Given the description of an element on the screen output the (x, y) to click on. 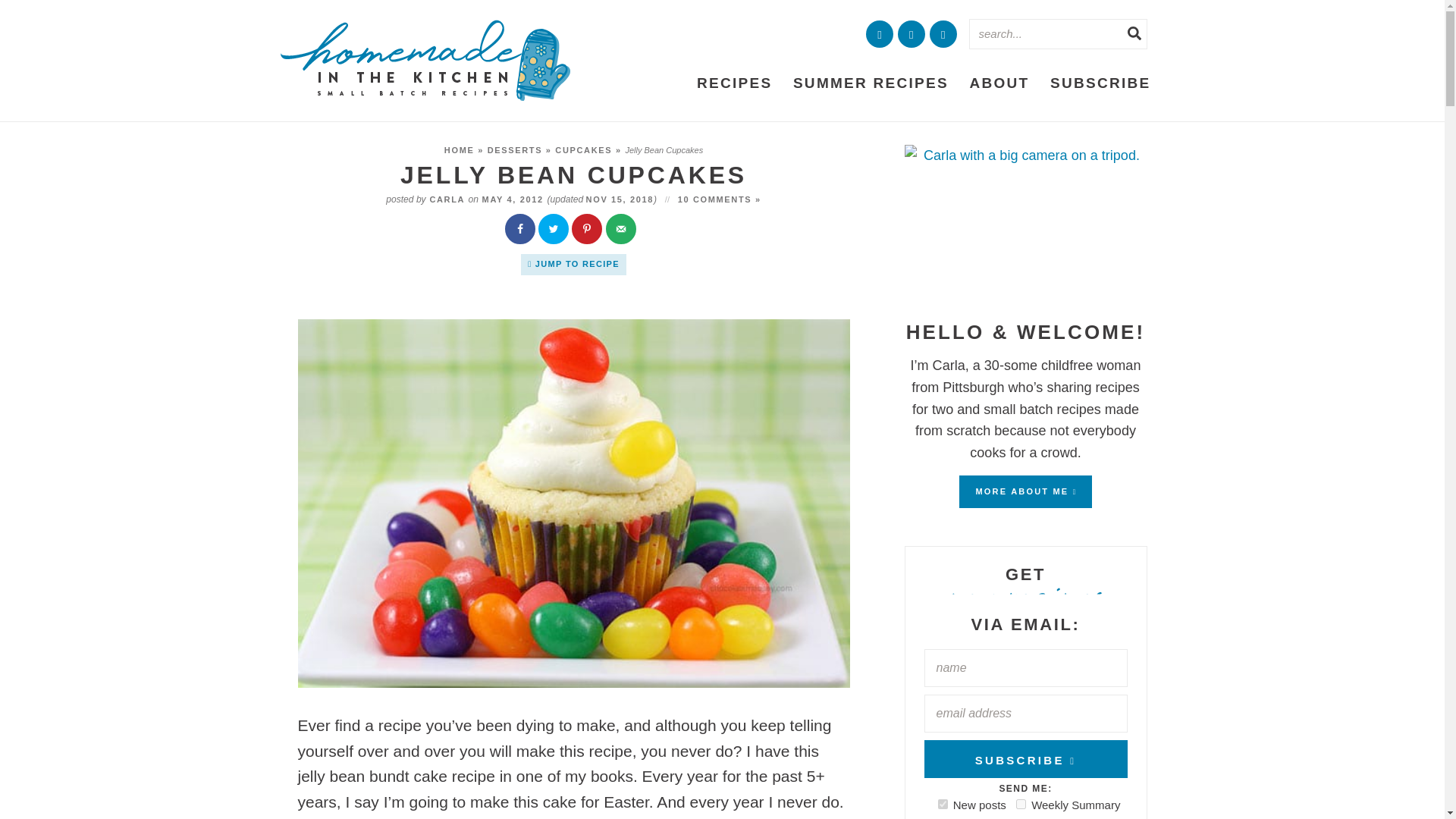
SUMMER RECIPES (870, 83)
Send over email (622, 230)
Share on Twitter (555, 230)
SUBSCRIBE (1100, 83)
More About Me (1025, 225)
RECIPES (734, 83)
1 (942, 804)
Save to Pinterest (588, 230)
CARLA (446, 198)
2 (1021, 804)
